Given the description of an element on the screen output the (x, y) to click on. 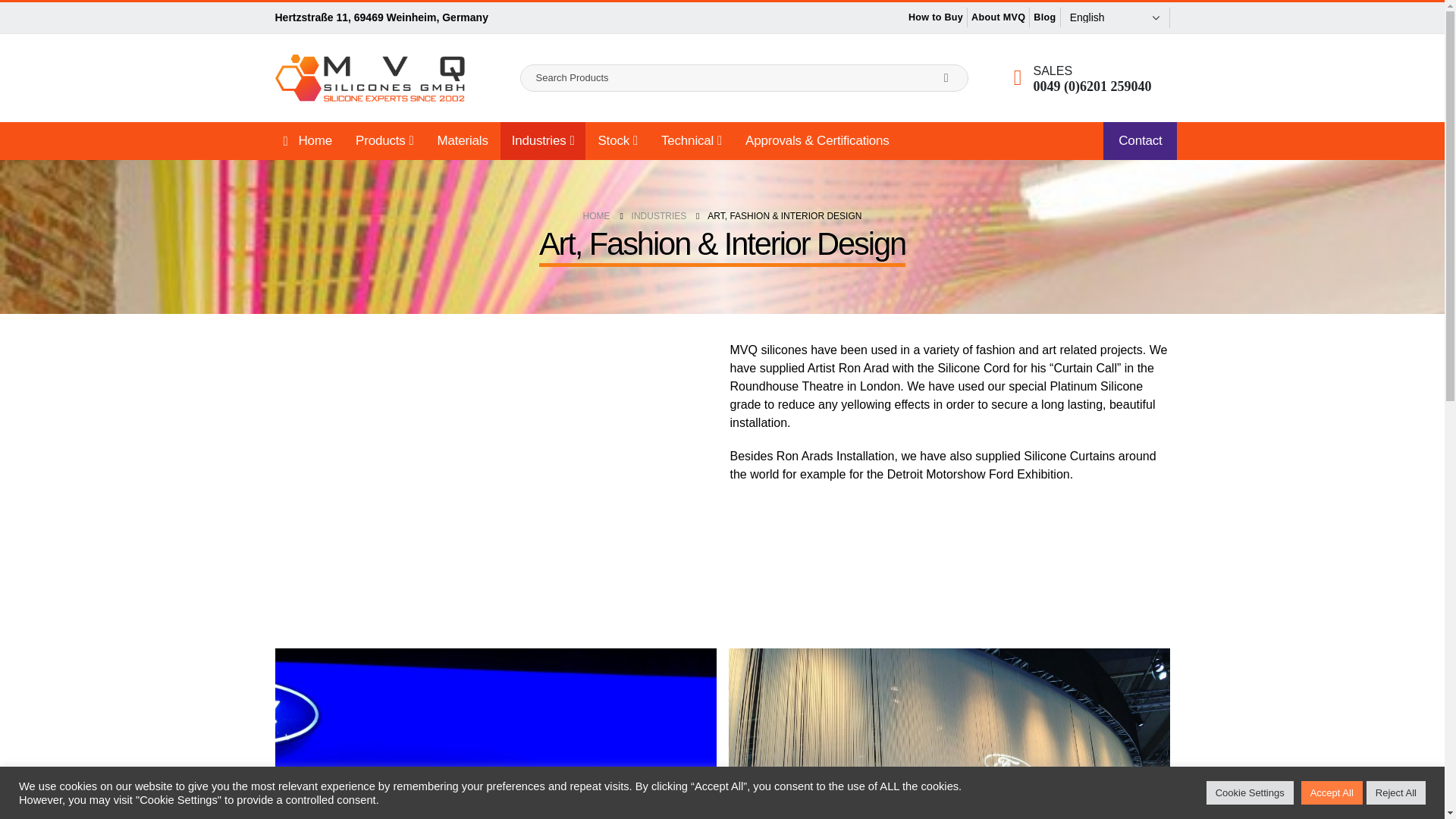
Ron Arad's Curtain Call (494, 464)
Home (304, 139)
Blog (1152, 17)
MVQ Silicones GmbH - High-quality silicone rubber products (369, 77)
Stock (617, 139)
Search (946, 77)
Products (384, 139)
Materials (462, 139)
Go to Home Page (596, 215)
How to Buy (1044, 17)
Industries (543, 139)
About MVQ (1106, 17)
